Given the description of an element on the screen output the (x, y) to click on. 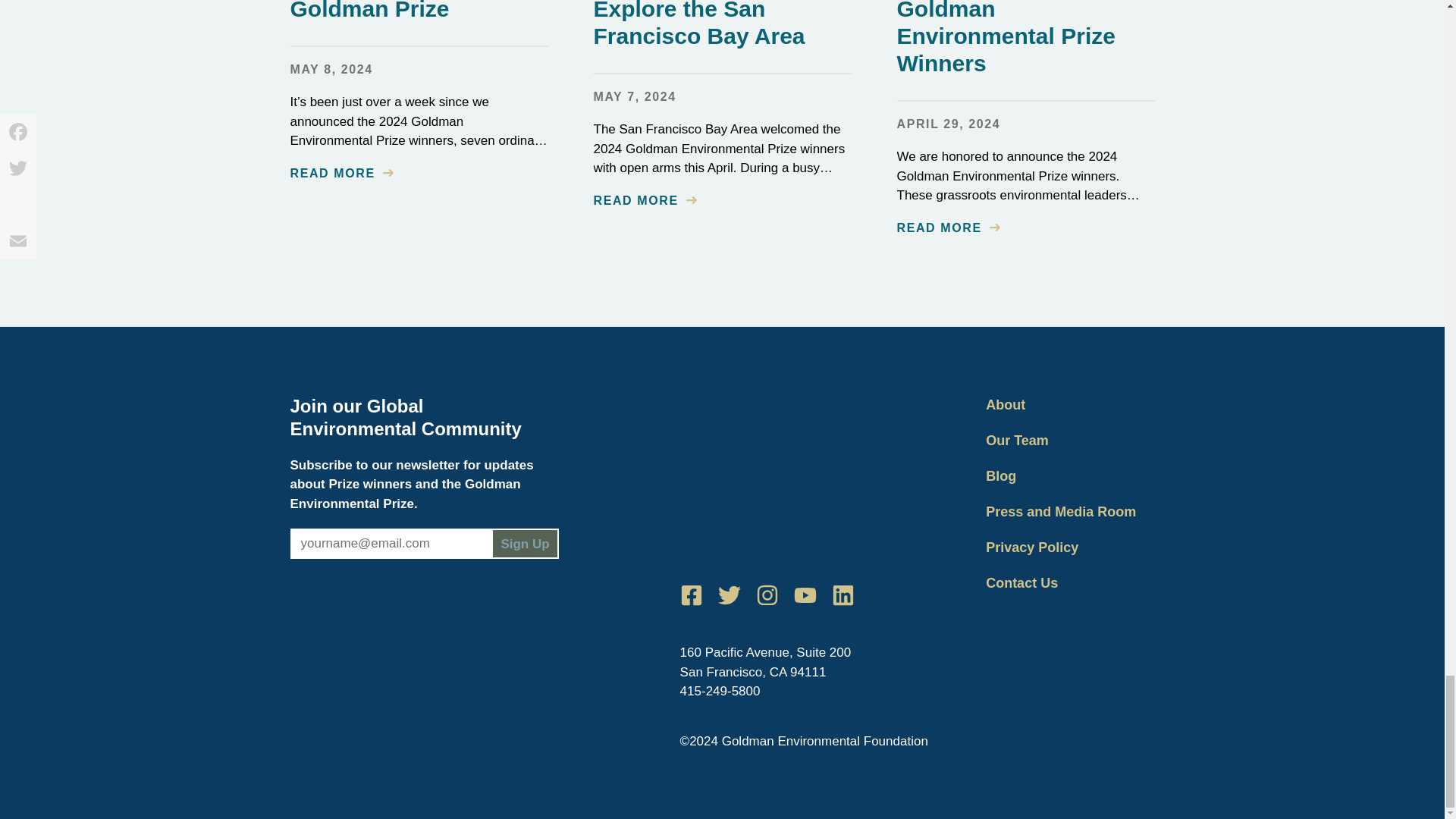
Goldman Prize Winners Explore the San Francisco Bay Area (719, 24)
Reflecting on the 2024 Goldman Prize (410, 10)
Introducing the 2024 Goldman Environmental Prize Winners (1007, 38)
Sign Up (524, 543)
READ MORE (341, 173)
READ MORE (643, 200)
Sign Up (524, 543)
READ MORE (947, 227)
